Given the description of an element on the screen output the (x, y) to click on. 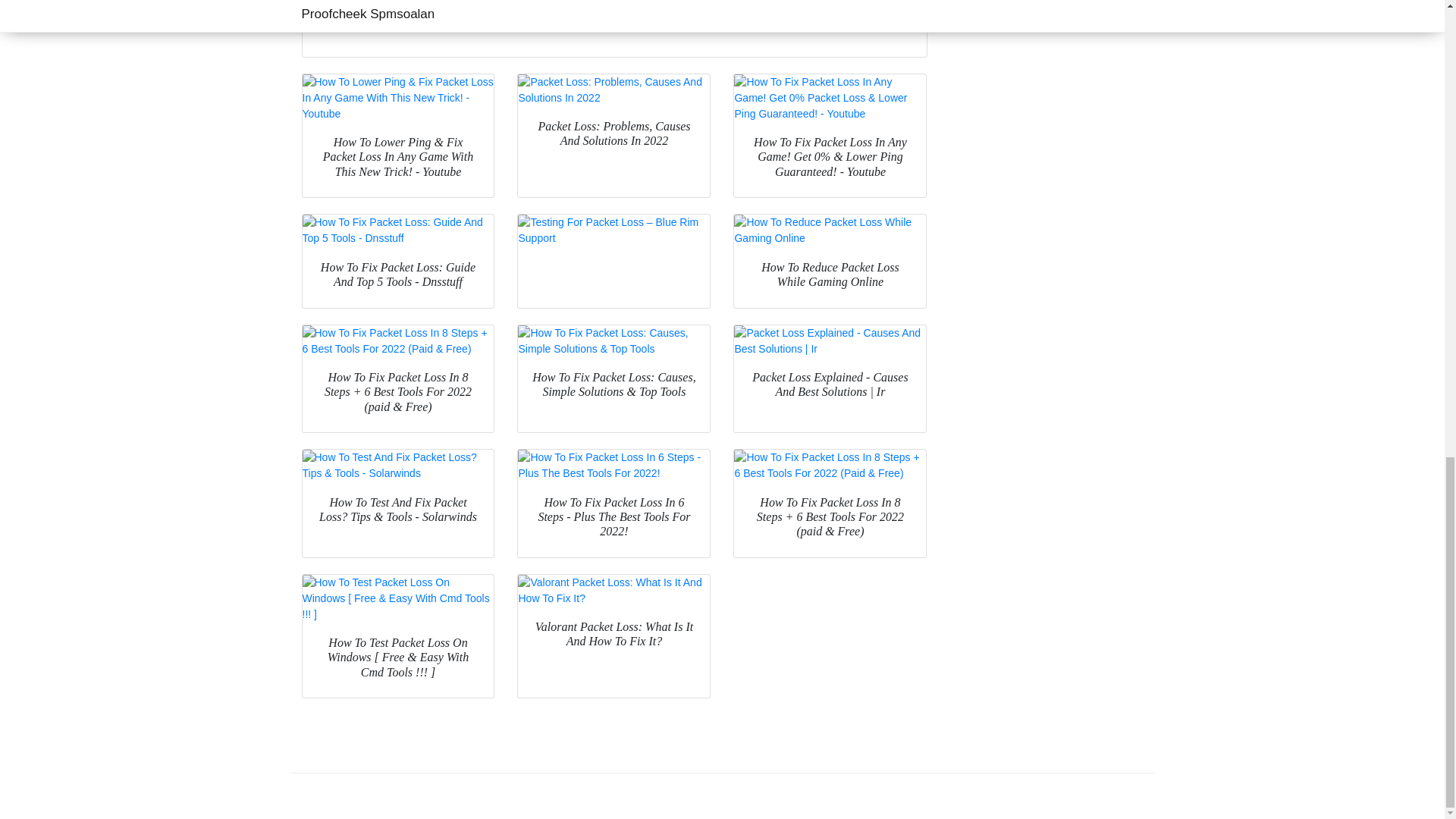
Packet Loss: Problems, Causes And Solutions In 2022  (614, 90)
How To Reduce Packet Loss While Gaming Online  (829, 230)
How To Fix Packet Loss: Guide And Top 5 Tools - Dnsstuff  (397, 230)
